Given the description of an element on the screen output the (x, y) to click on. 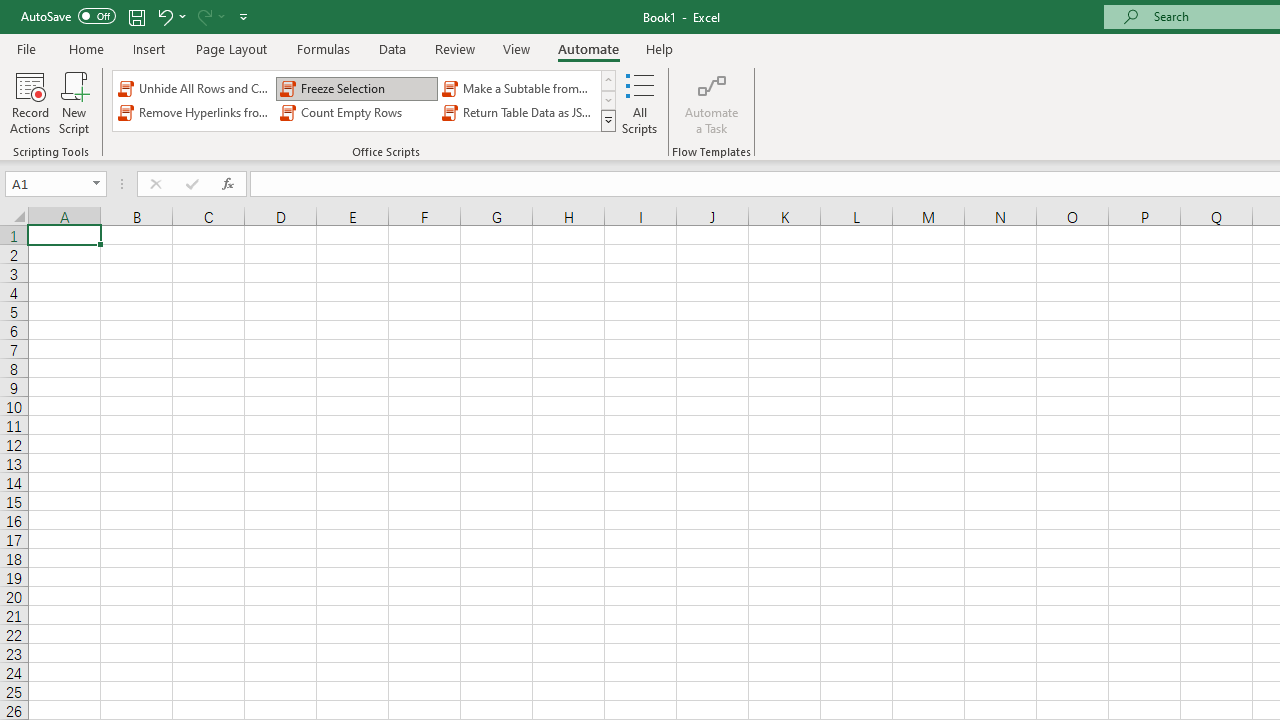
Unhide All Rows and Columns (194, 88)
AutomationID: OfficeScriptsGallery (365, 100)
Record Actions (29, 102)
Freeze Selection (356, 88)
All Scripts (639, 102)
